Given the description of an element on the screen output the (x, y) to click on. 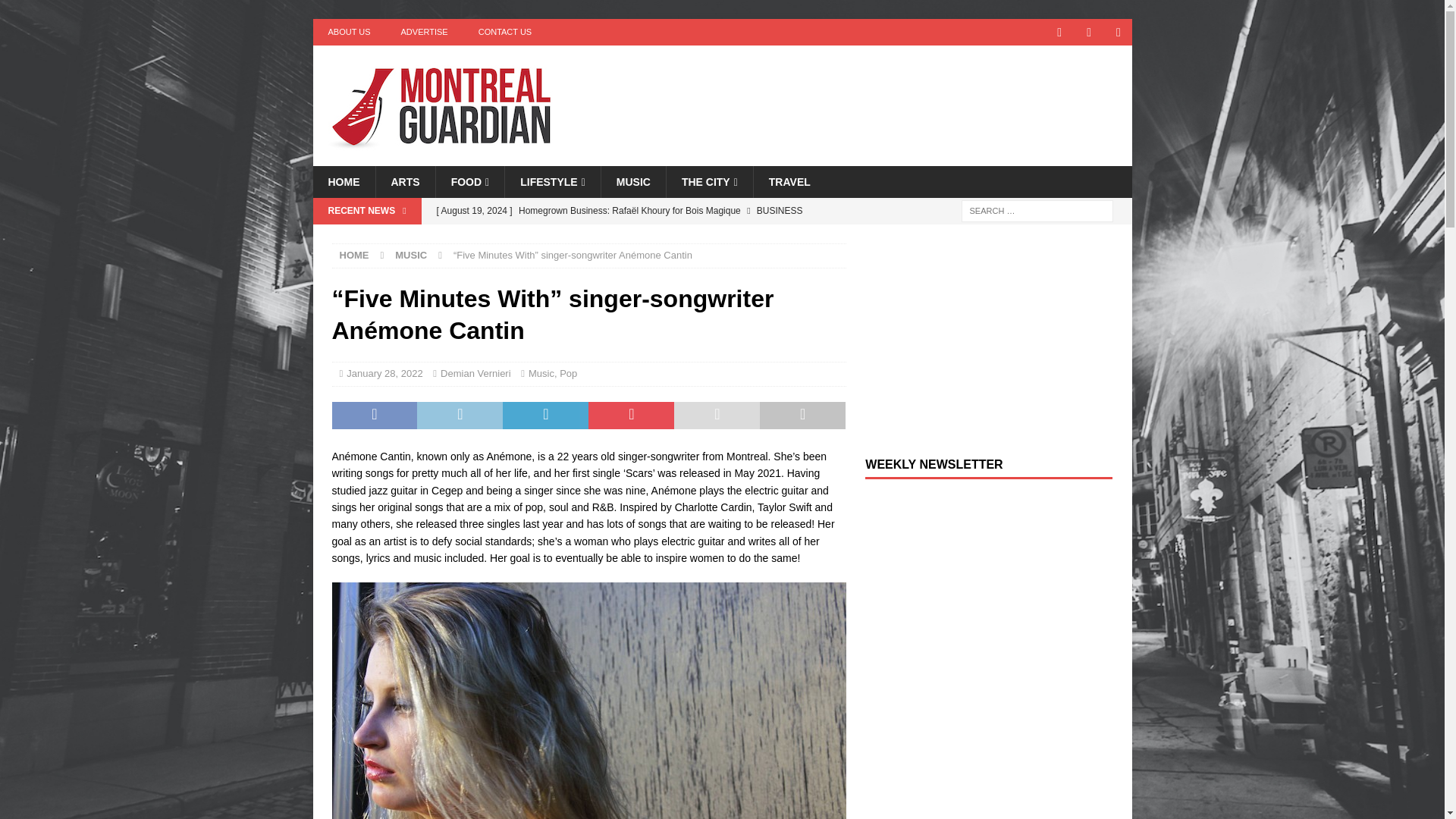
Advertisement (868, 94)
MUSIC (410, 255)
ABOUT US (349, 31)
Pop (567, 373)
HOME (354, 255)
Search (56, 11)
January 28, 2022 (384, 373)
HOME (343, 182)
ARTS (403, 182)
Demian Vernieri (476, 373)
